Given the description of an element on the screen output the (x, y) to click on. 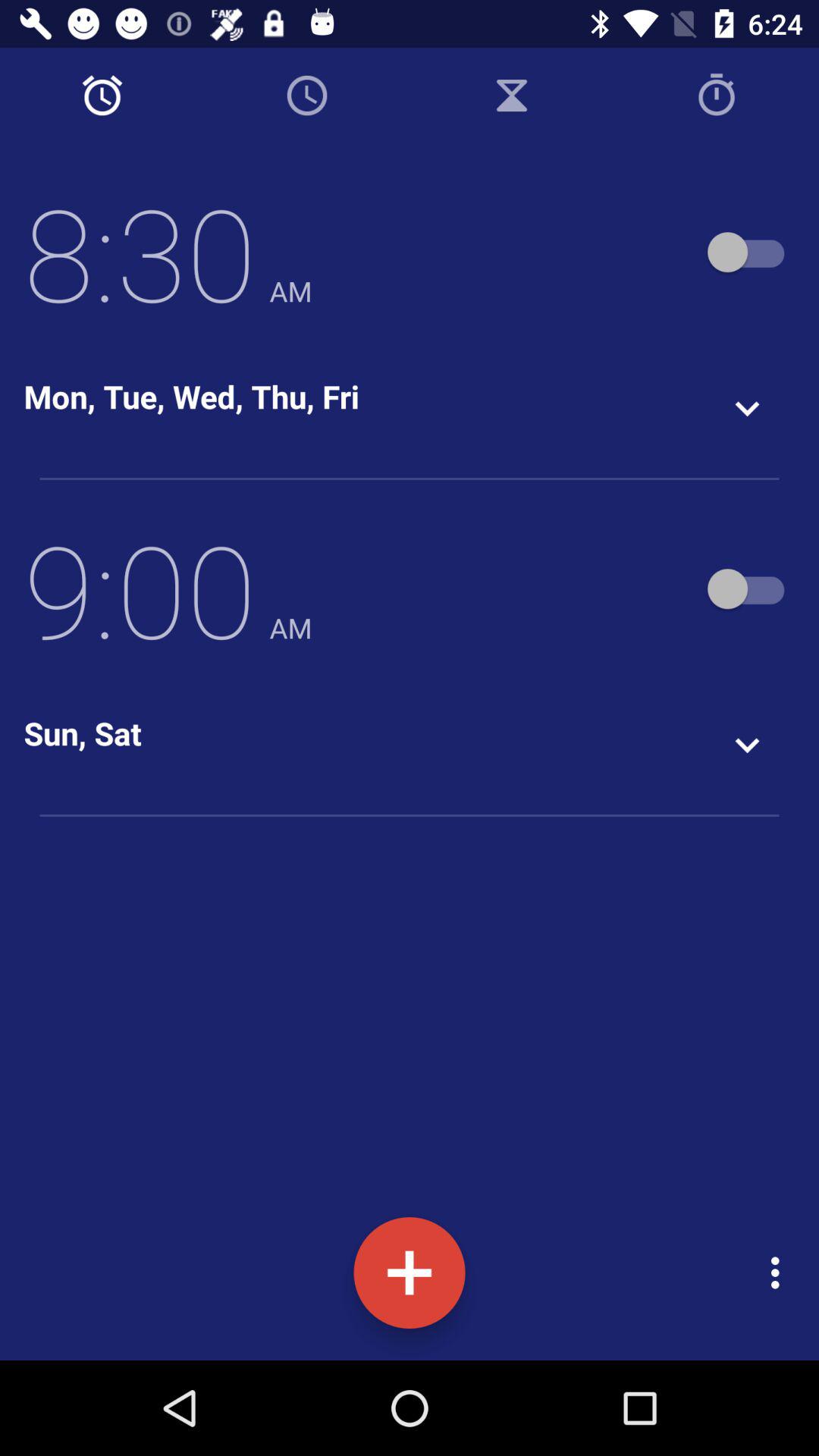
scroll until the sun, sat item (82, 732)
